Given the description of an element on the screen output the (x, y) to click on. 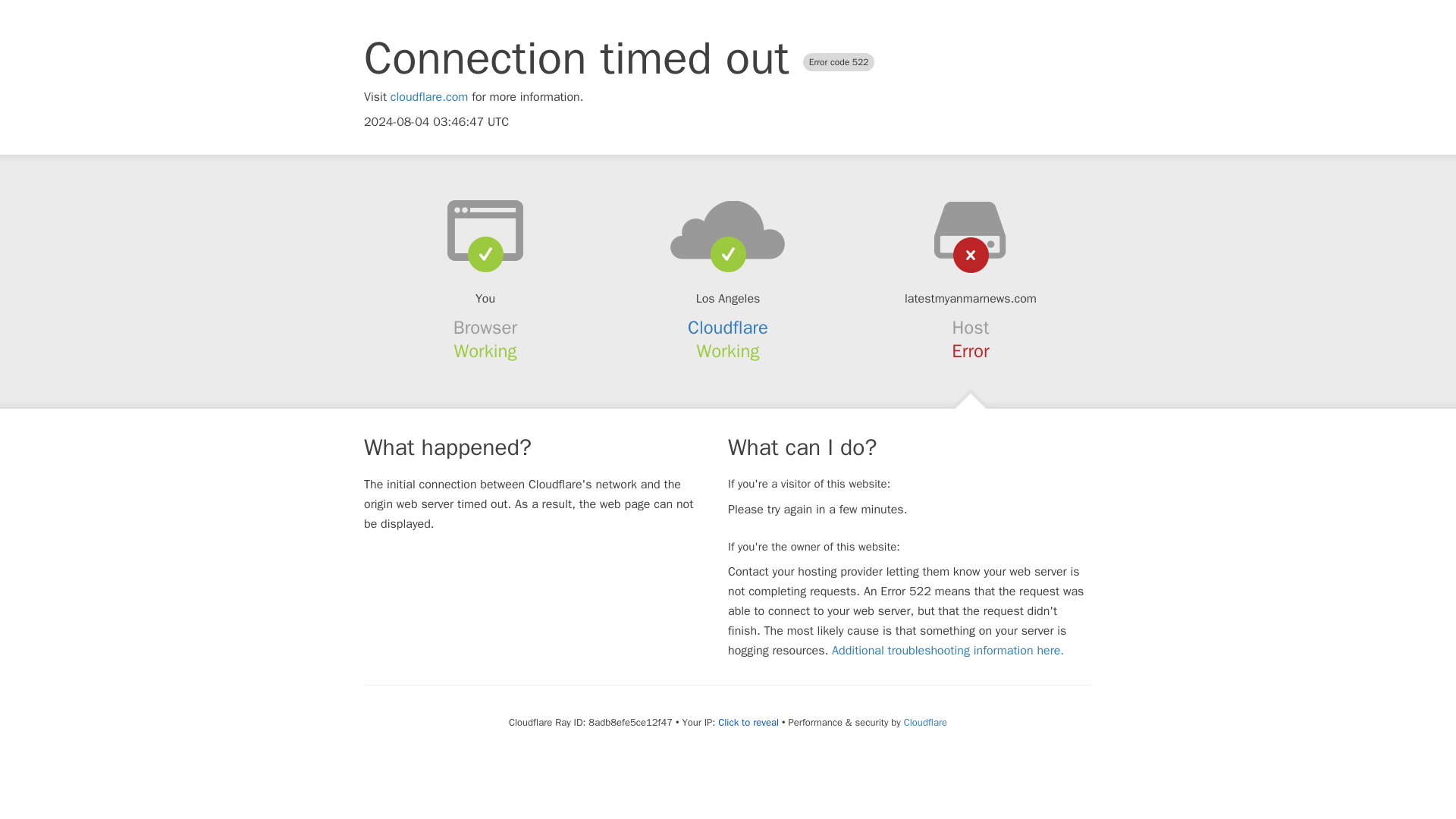
Additional troubleshooting information here. (947, 650)
Cloudflare (727, 327)
Cloudflare (925, 721)
Click to reveal (747, 722)
cloudflare.com (429, 96)
